Given the description of an element on the screen output the (x, y) to click on. 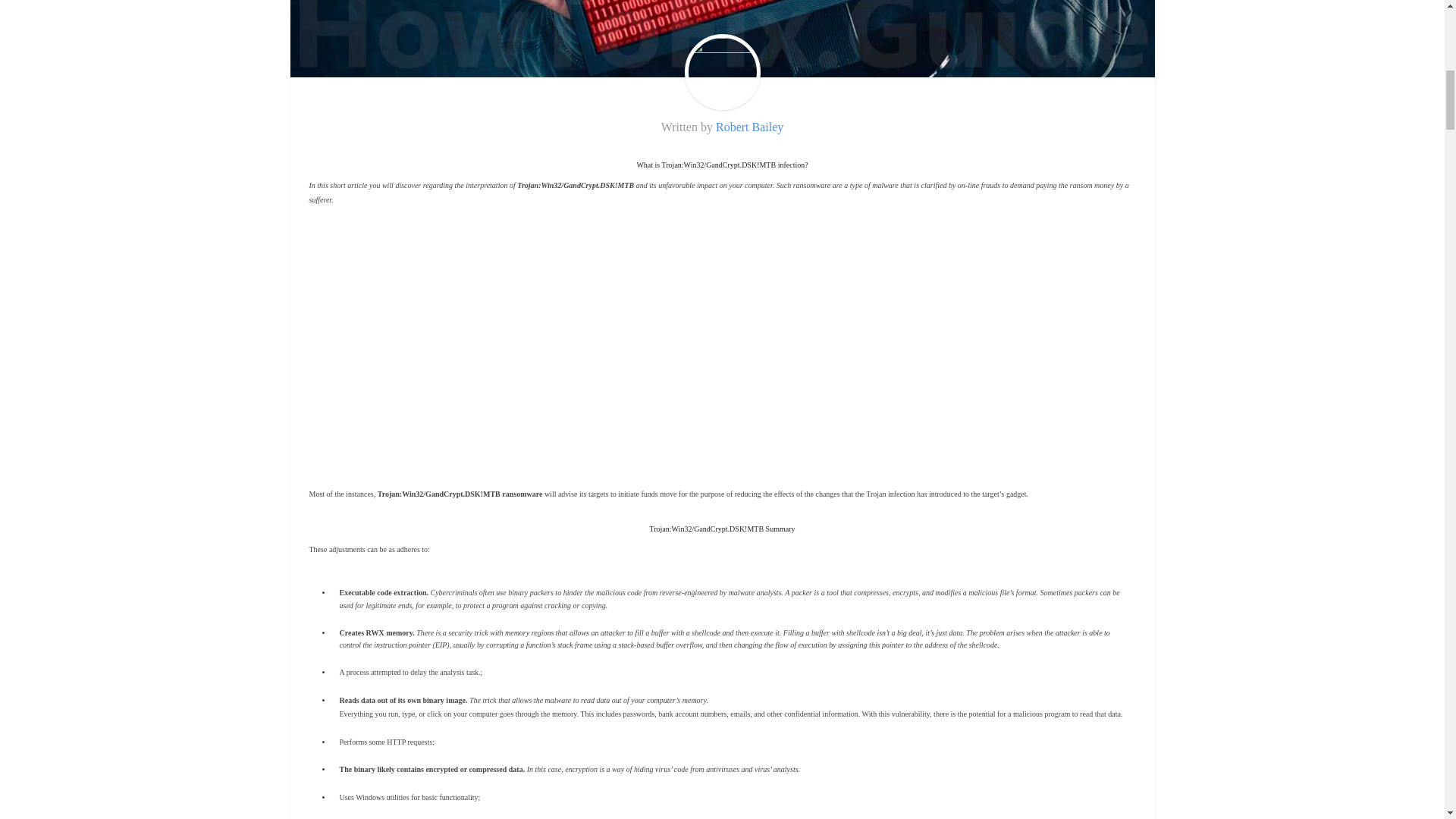
Robert Bailey (749, 126)
